Given the description of an element on the screen output the (x, y) to click on. 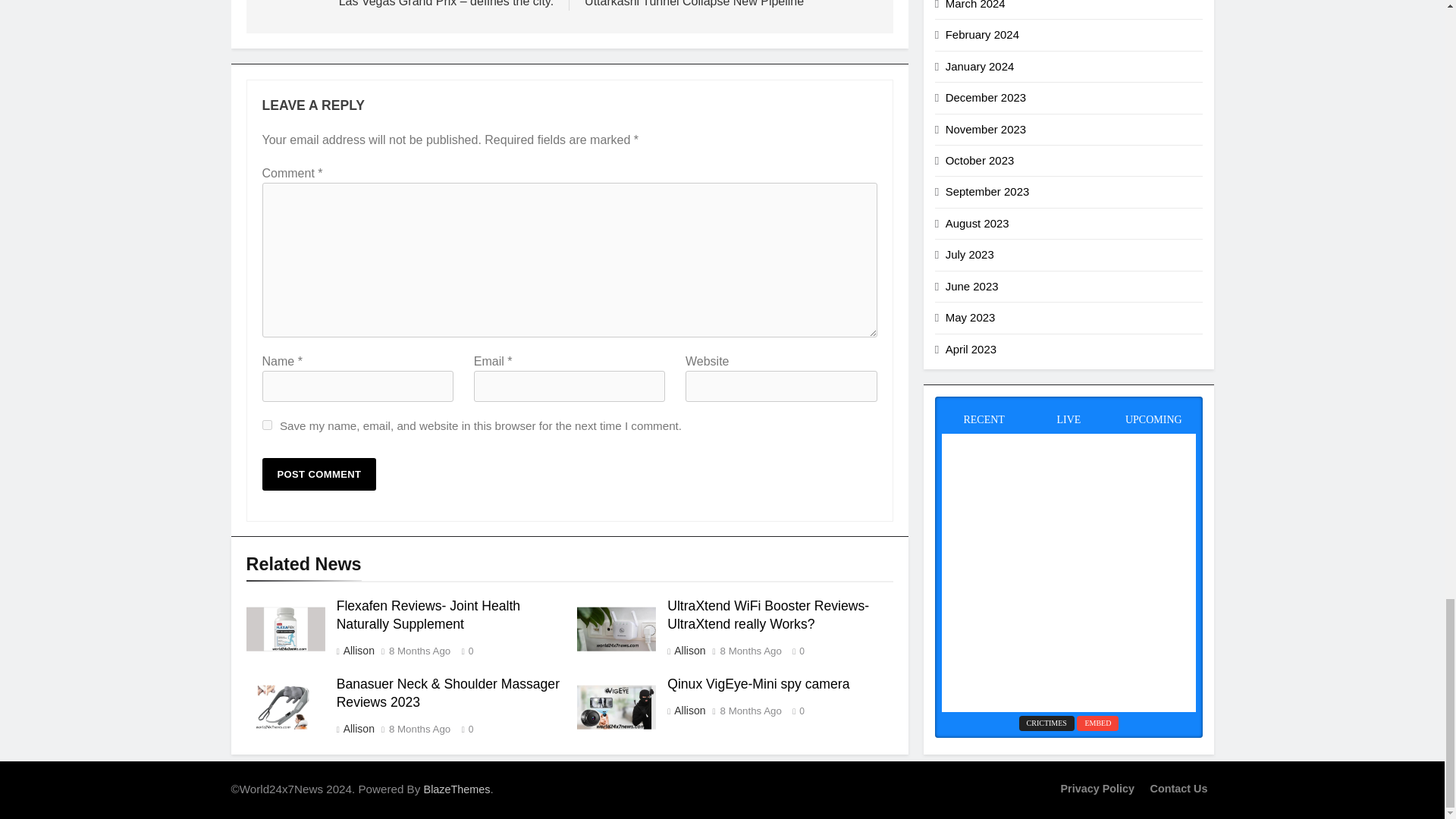
yes (267, 424)
Post Comment (319, 473)
